Given the description of an element on the screen output the (x, y) to click on. 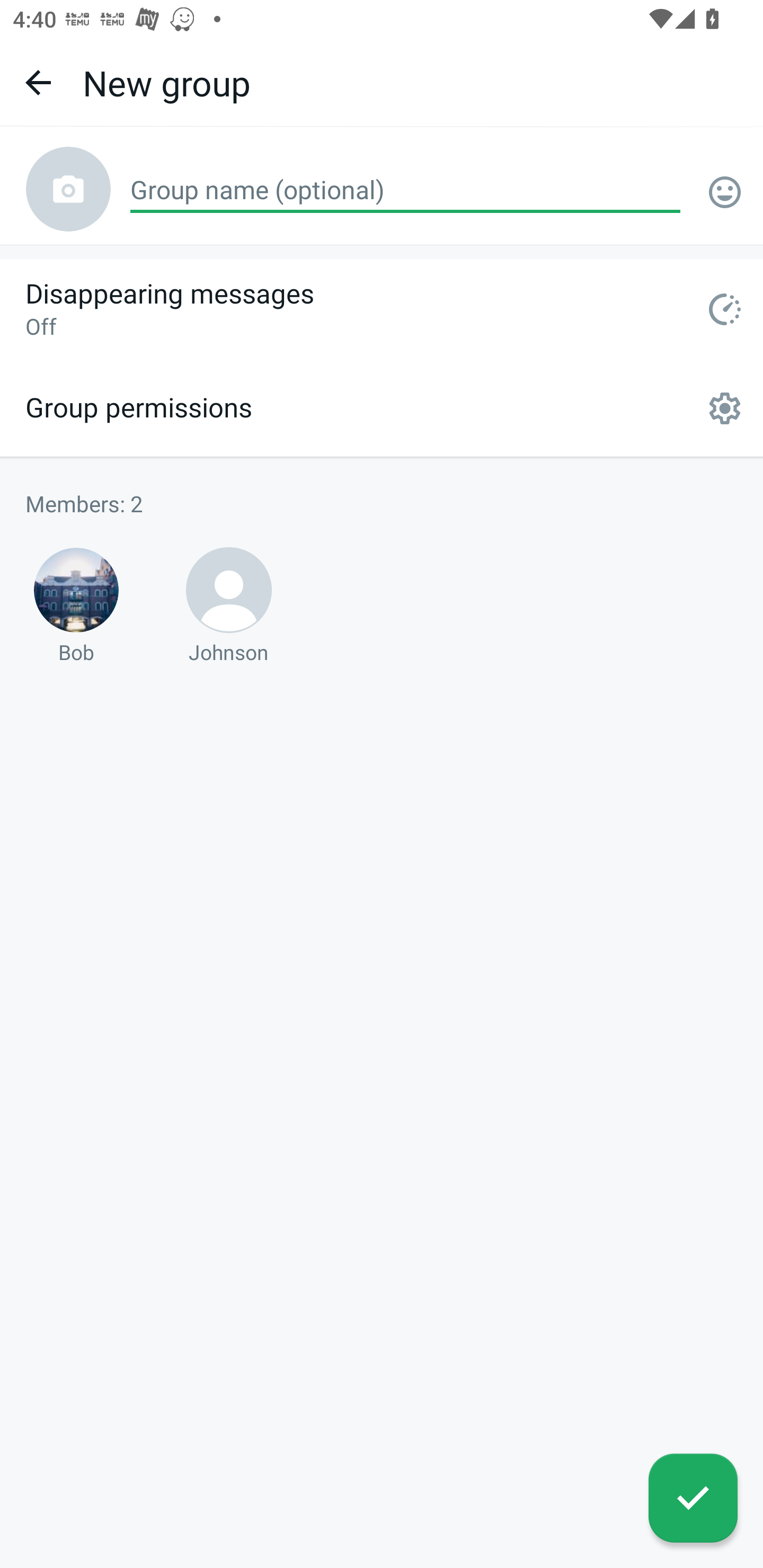
Navigate up (38, 82)
Group icon (68, 188)
Emoji (724, 191)
Group name (optional) (404, 190)
Disappearing messages Off (381, 309)
Group permissions (381, 408)
Create (692, 1497)
